Given the description of an element on the screen output the (x, y) to click on. 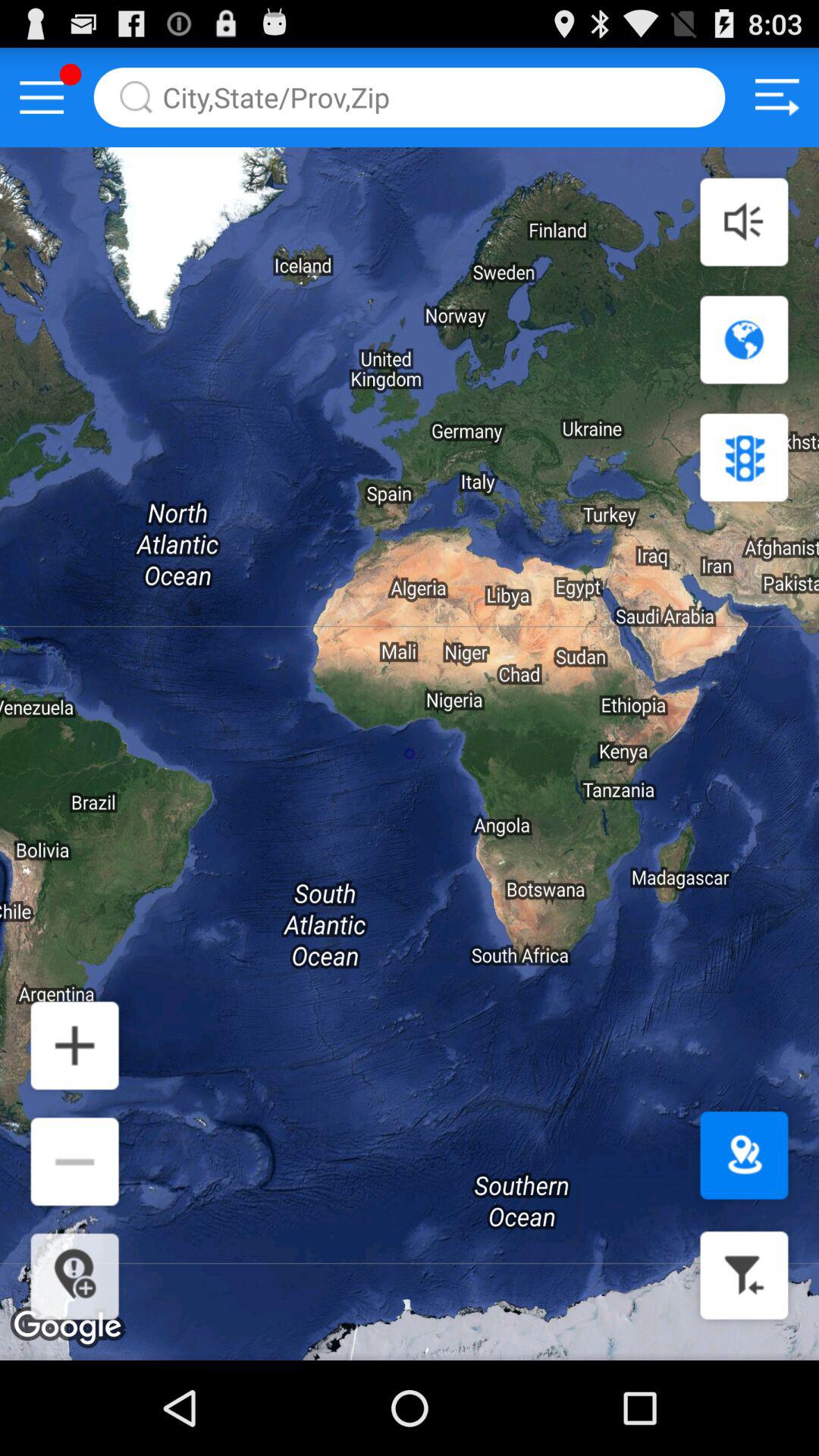
launch the item at the center (409, 753)
